Given the description of an element on the screen output the (x, y) to click on. 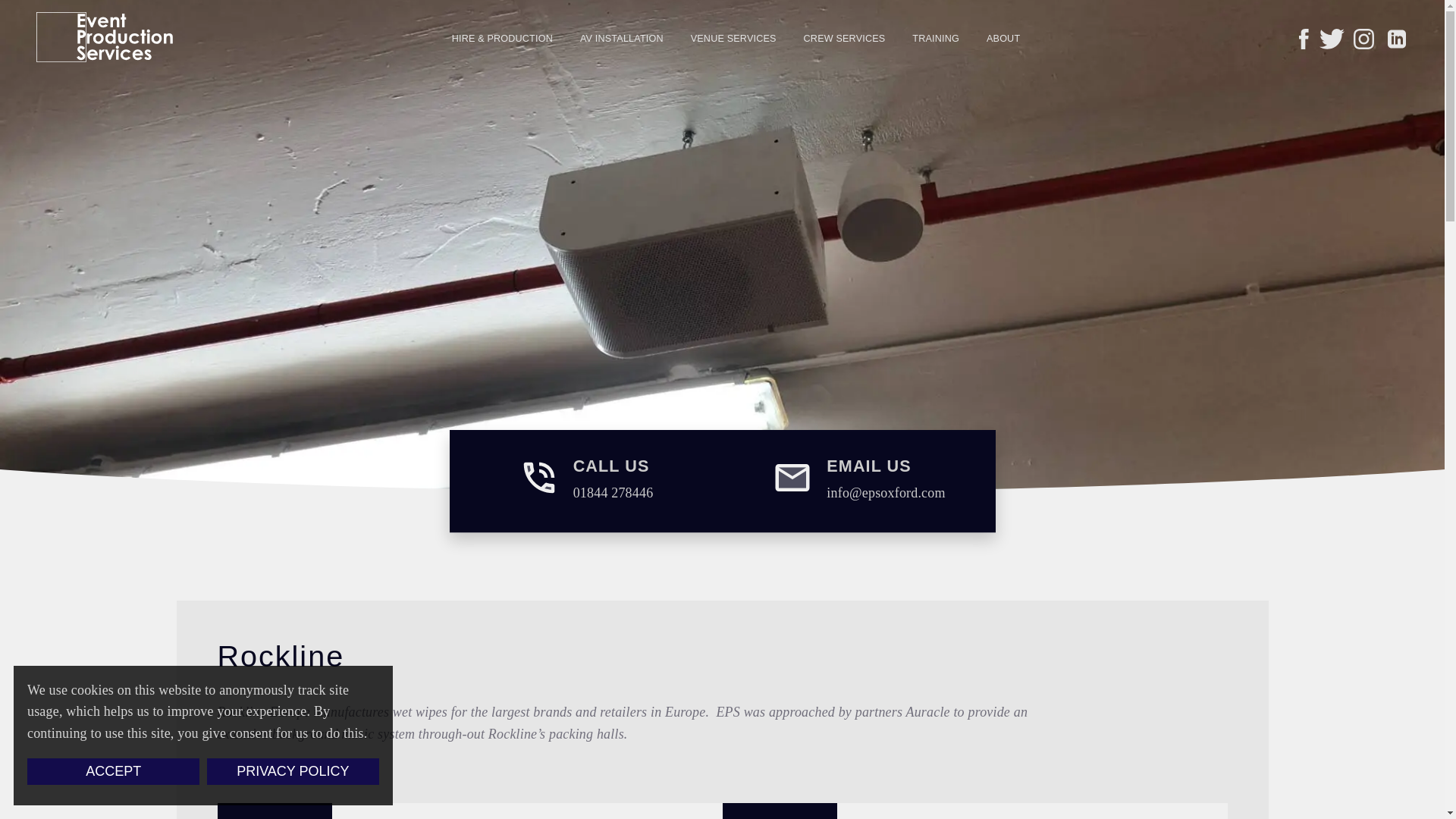
AV INSTALLATION (621, 38)
CREW SERVICES (844, 38)
TRAINING (935, 38)
ABOUT (1003, 38)
VENUE SERVICES (585, 480)
